Given the description of an element on the screen output the (x, y) to click on. 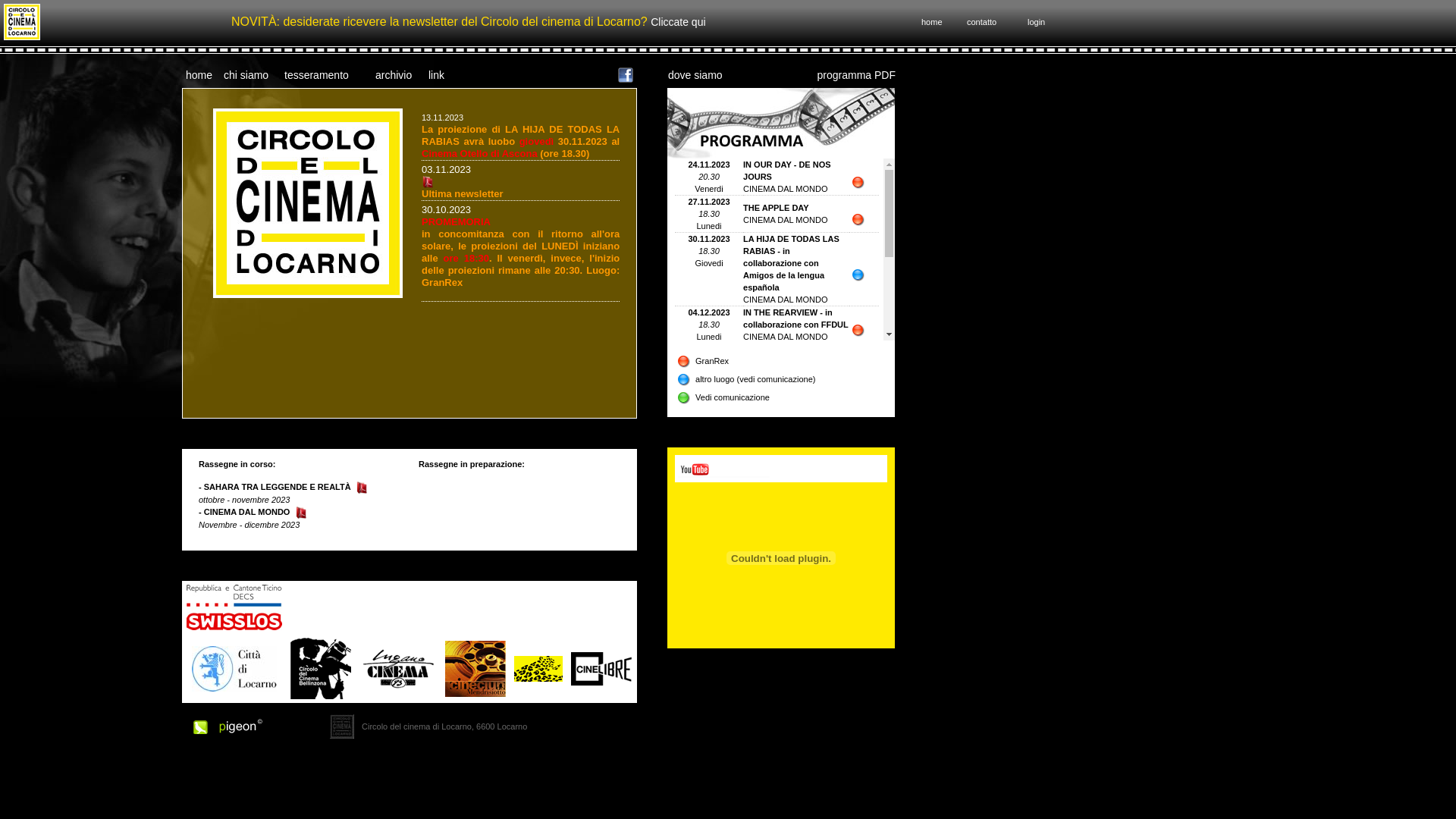
link Element type: text (436, 74)
archivio Element type: text (393, 74)
ABOUT DRY GRASSES Element type: text (789, 416)
programma PDF Element type: text (856, 74)
home Element type: text (198, 74)
contatto Element type: text (981, 21)
Cliccate qui Element type: text (677, 21)
- CINEMA DAL MONDO Element type: text (243, 511)
THE APPLE DAY Element type: text (776, 207)
CINEMA DAL MONDO Element type: text (785, 219)
chi siamo Element type: text (245, 74)
dove siamo Element type: text (695, 74)
CINEMA DAL MONDO Element type: text (785, 428)
CINEMA DAL MONDO Element type: text (785, 299)
IN OUR DAY - DE NOS JOURS Element type: text (787, 170)
CINEMA DAL MONDO Element type: text (785, 397)
CINEMA DAL MONDO Element type: text (785, 188)
CINEMA DAL MONDO Element type: text (785, 336)
home Element type: text (931, 21)
CINEMA DAL MONDO Element type: text (785, 471)
tesseramento Element type: text (316, 74)
IN THE REARVIEW - in collaborazione con FFDUL Element type: text (795, 318)
login Element type: text (1035, 21)
OR DE VIE - in collaborazione con FFDUL Element type: text (795, 453)
